Given the description of an element on the screen output the (x, y) to click on. 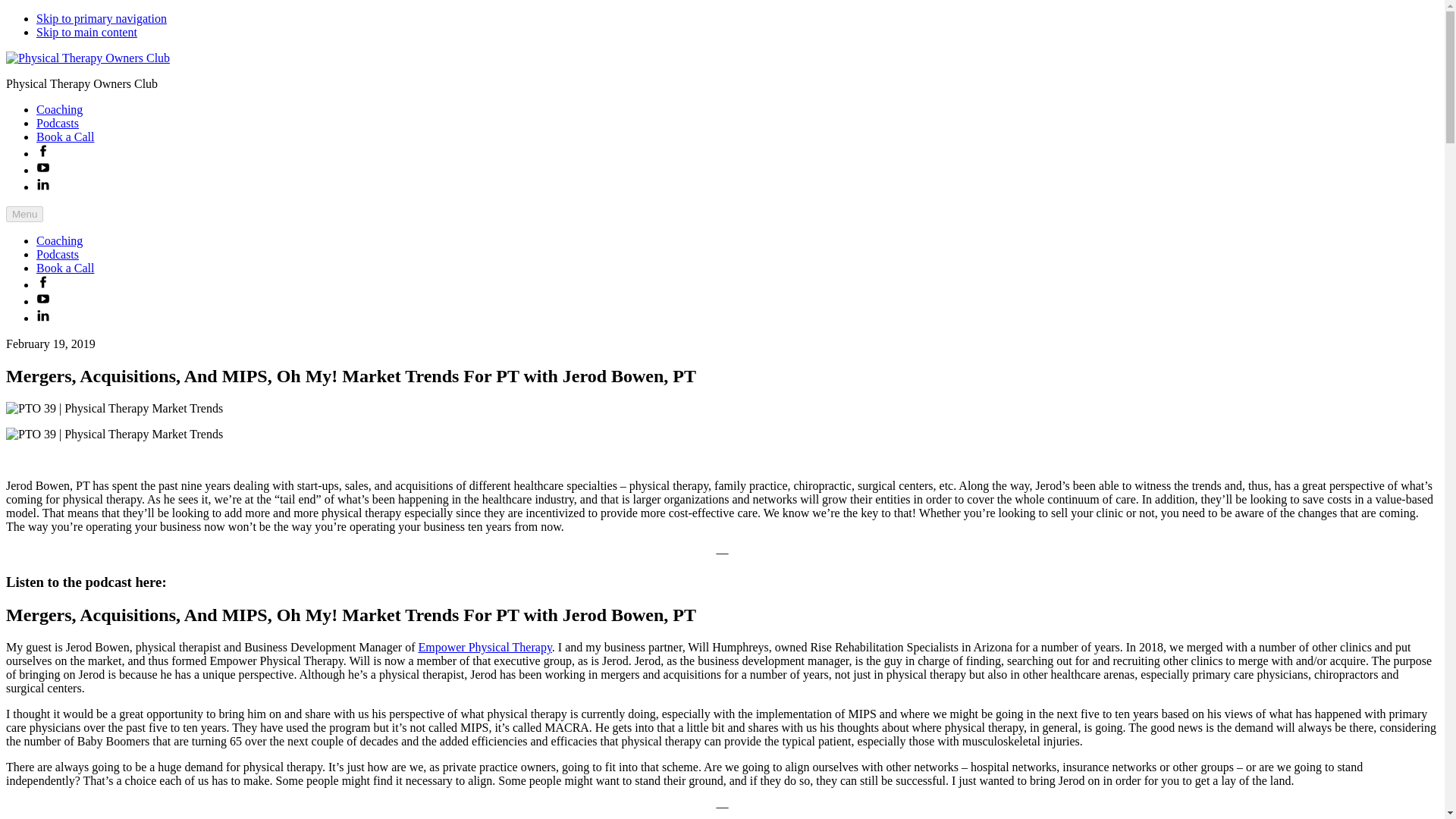
Book a Call (65, 136)
Podcasts (57, 254)
Book a Call (65, 267)
Skip to main content (86, 31)
Empower Physical Therapy (484, 646)
Coaching (59, 109)
Menu (24, 213)
Coaching (59, 240)
Podcasts (57, 123)
Skip to primary navigation (101, 18)
